Given the description of an element on the screen output the (x, y) to click on. 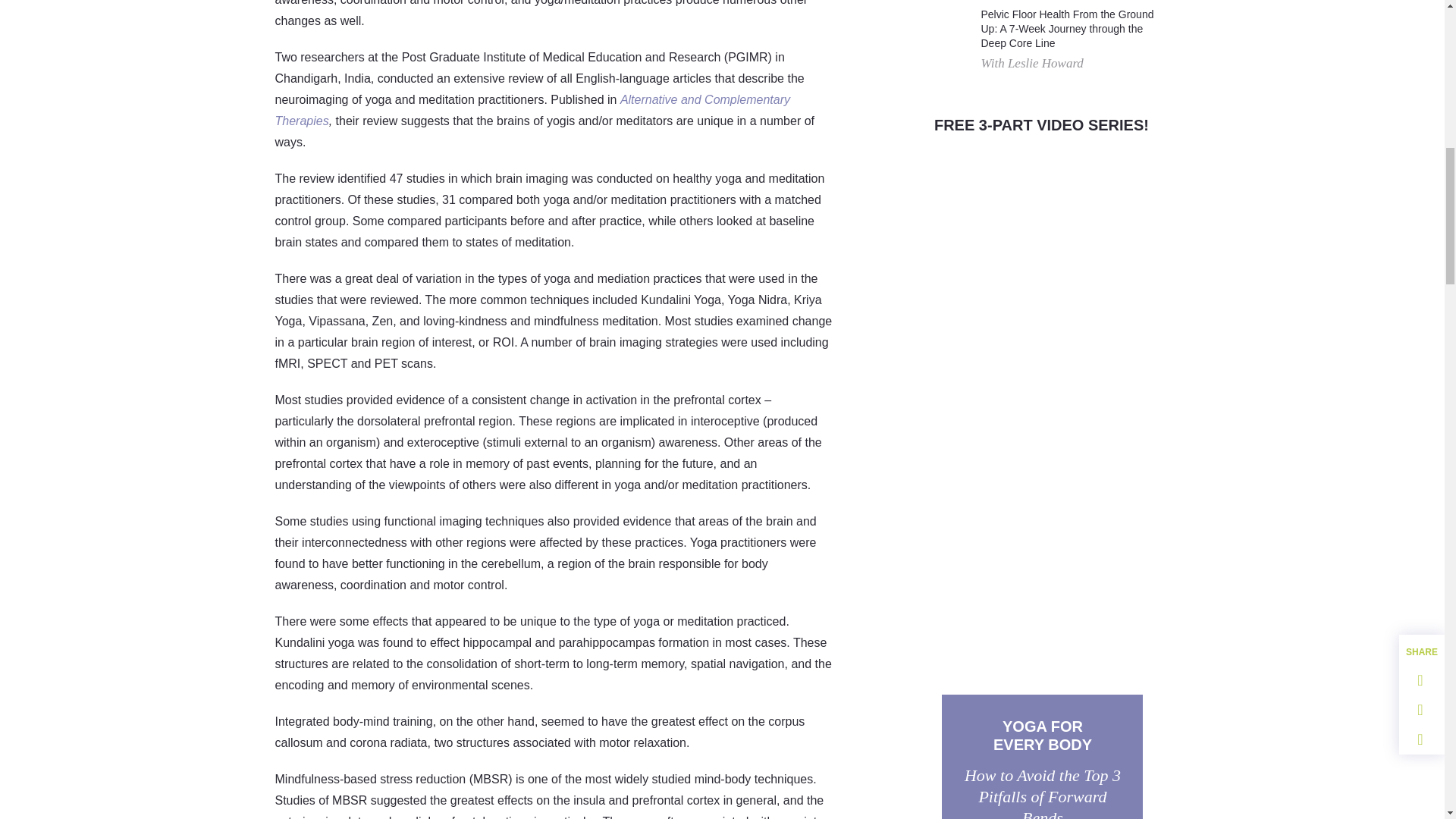
Alternative and Complementary Therapies (532, 110)
